Given the description of an element on the screen output the (x, y) to click on. 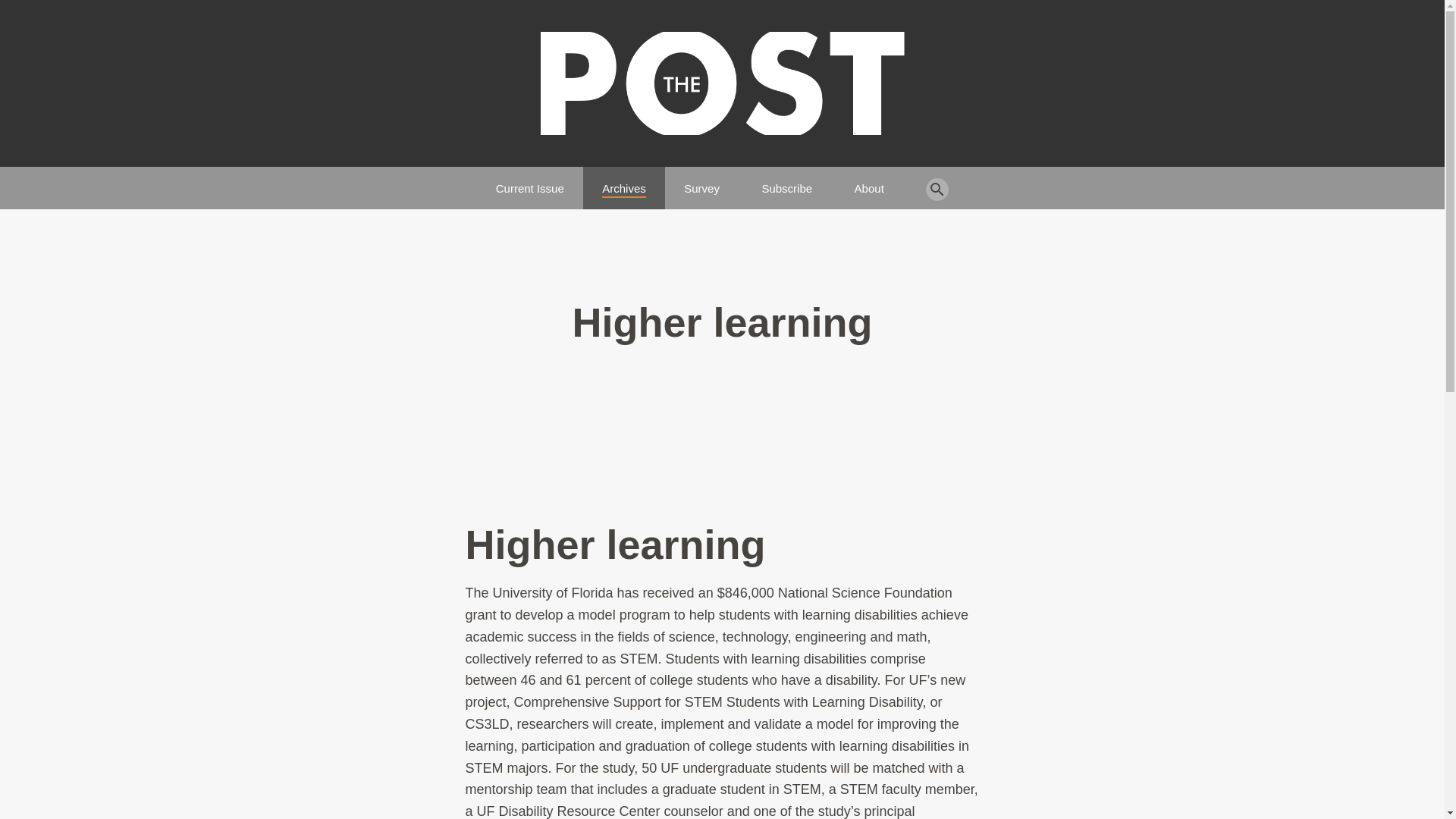
Current Issue (530, 182)
The POST - Home (722, 83)
About (868, 182)
Subscribe (786, 182)
Archives (624, 182)
Survey (701, 182)
